Given the description of an element on the screen output the (x, y) to click on. 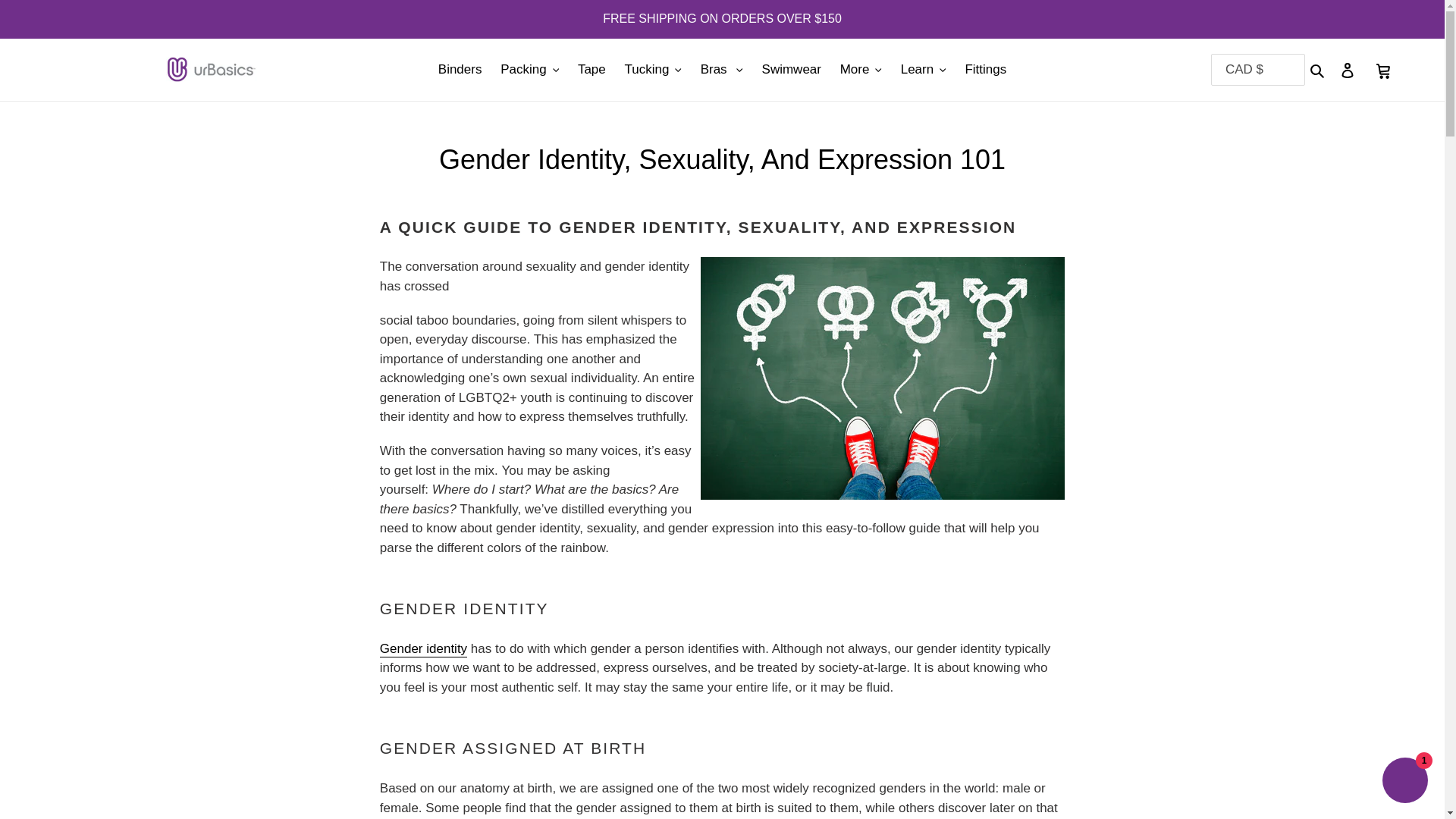
Bras (722, 69)
Search (1318, 69)
Tape (591, 69)
Tucking (652, 69)
Fittings (984, 69)
Shopify online store chat (1404, 781)
Packing (529, 69)
More (860, 69)
Learn (923, 69)
Binders (459, 69)
Swimwear (791, 69)
